Given the description of an element on the screen output the (x, y) to click on. 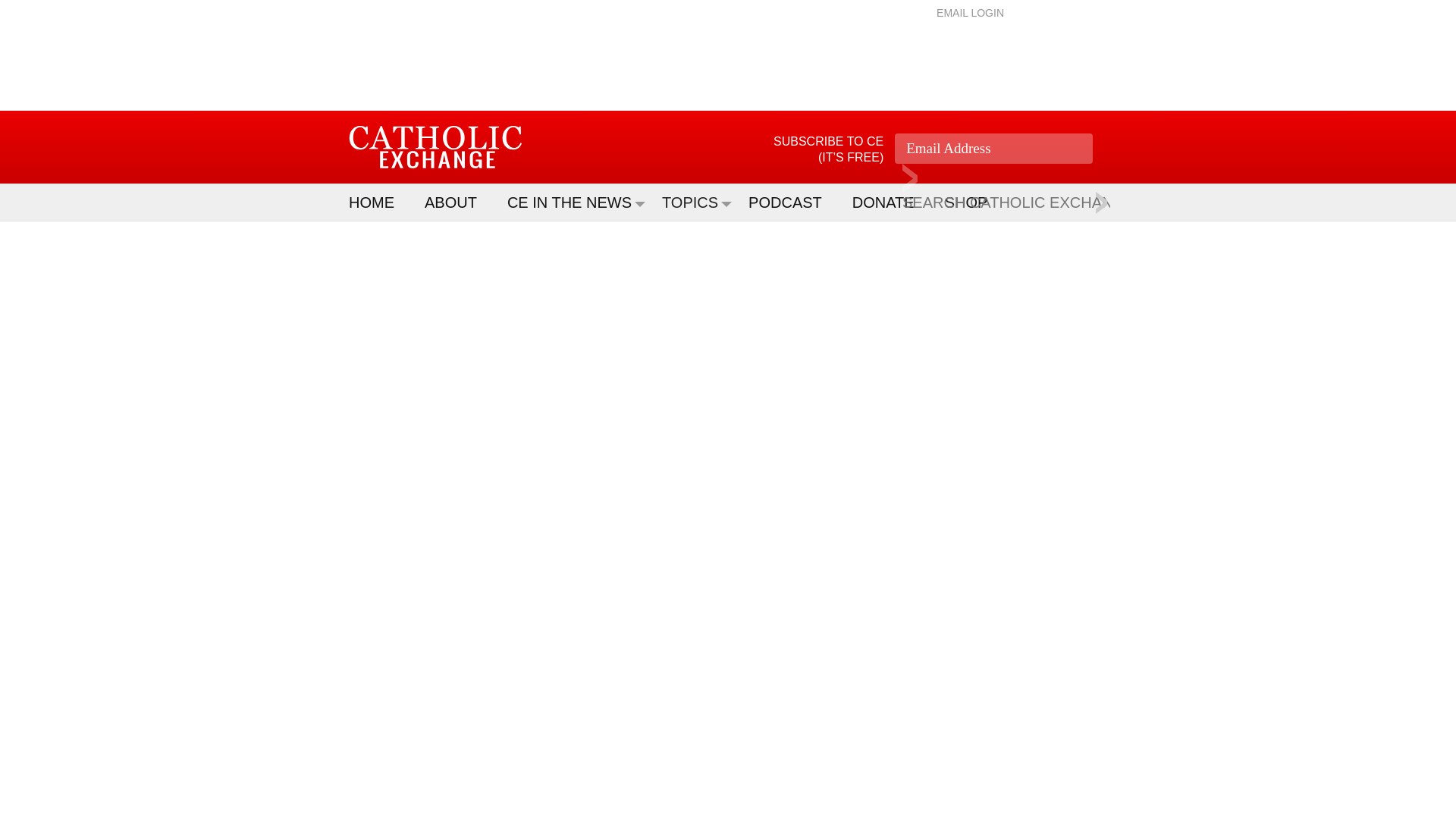
EMAIL LOGIN (970, 12)
Catholic Exchange (435, 146)
SHOP (973, 201)
DONATE (890, 201)
PODCAST (792, 201)
ABOUT (458, 201)
HOME (379, 201)
CE IN THE NEWS (576, 201)
